Given the description of an element on the screen output the (x, y) to click on. 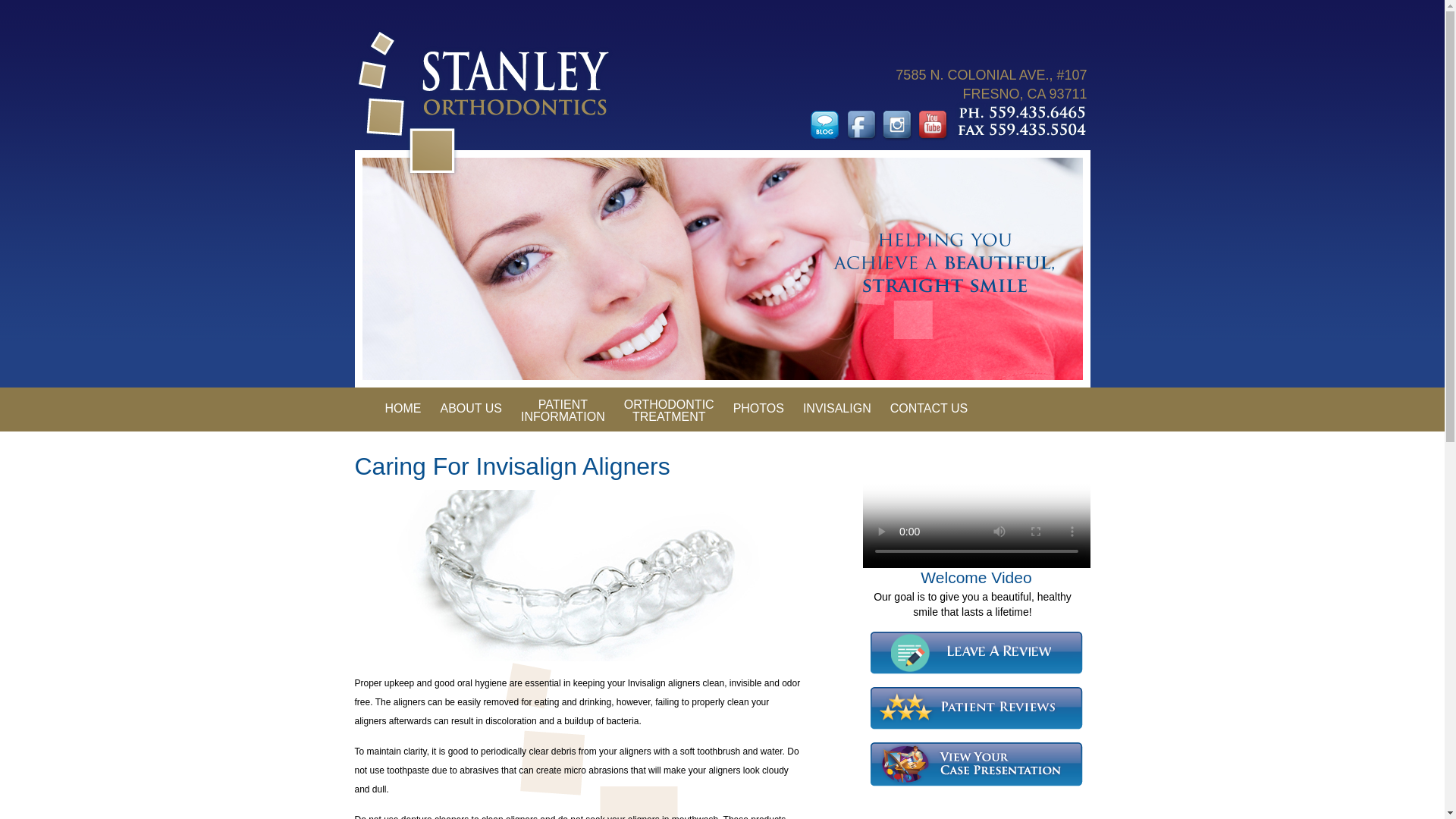
INVISALIGN (836, 408)
ABOUT US (669, 410)
PHOTOS (470, 408)
HOME (563, 410)
